Given the description of an element on the screen output the (x, y) to click on. 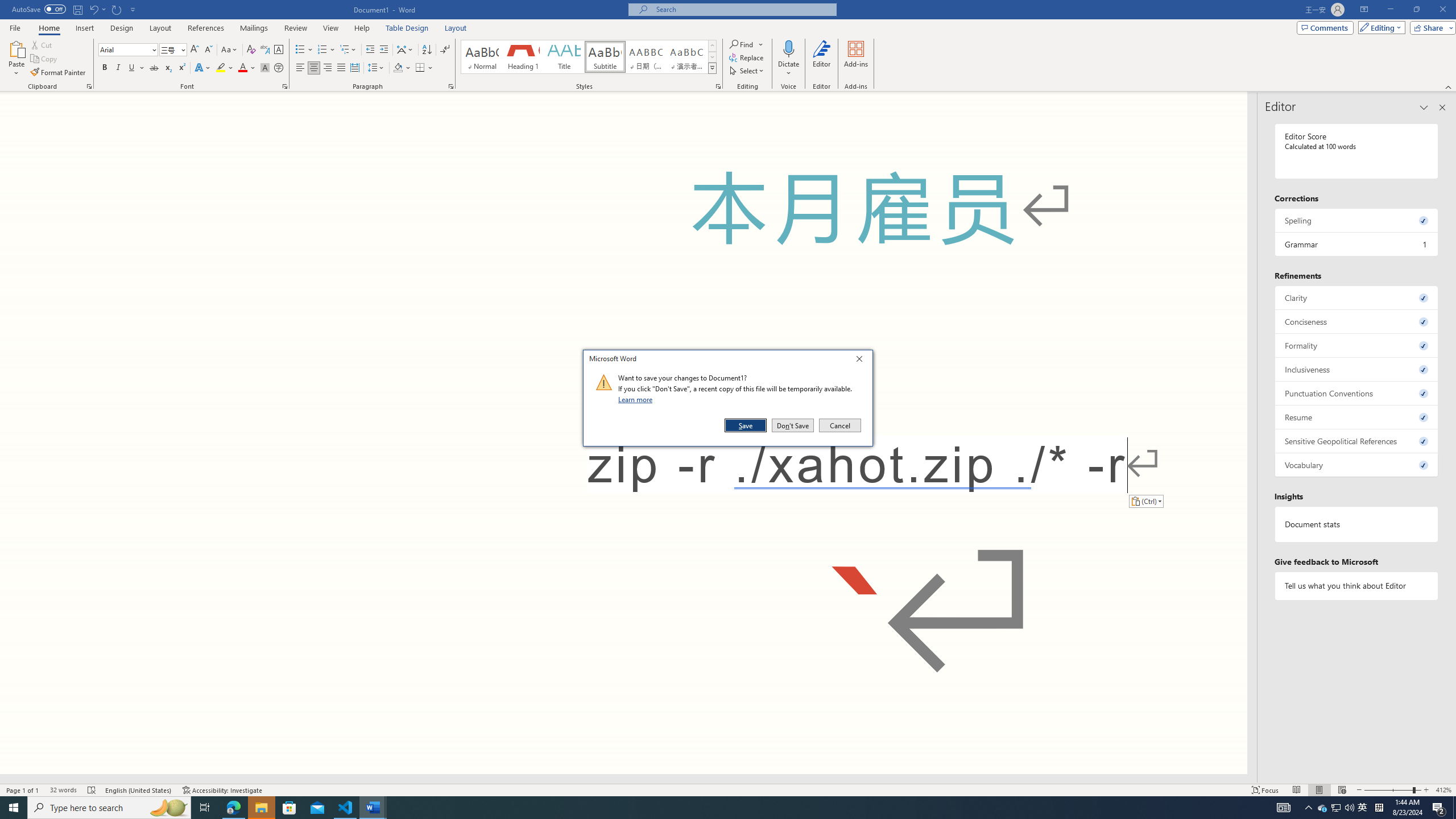
Grammar, 1 issue. Press space or enter to review items. (1356, 243)
Formality, 0 issues. Press space or enter to review items. (1356, 345)
Vocabulary, 0 issues. Press space or enter to review items. (1356, 464)
